Given the description of an element on the screen output the (x, y) to click on. 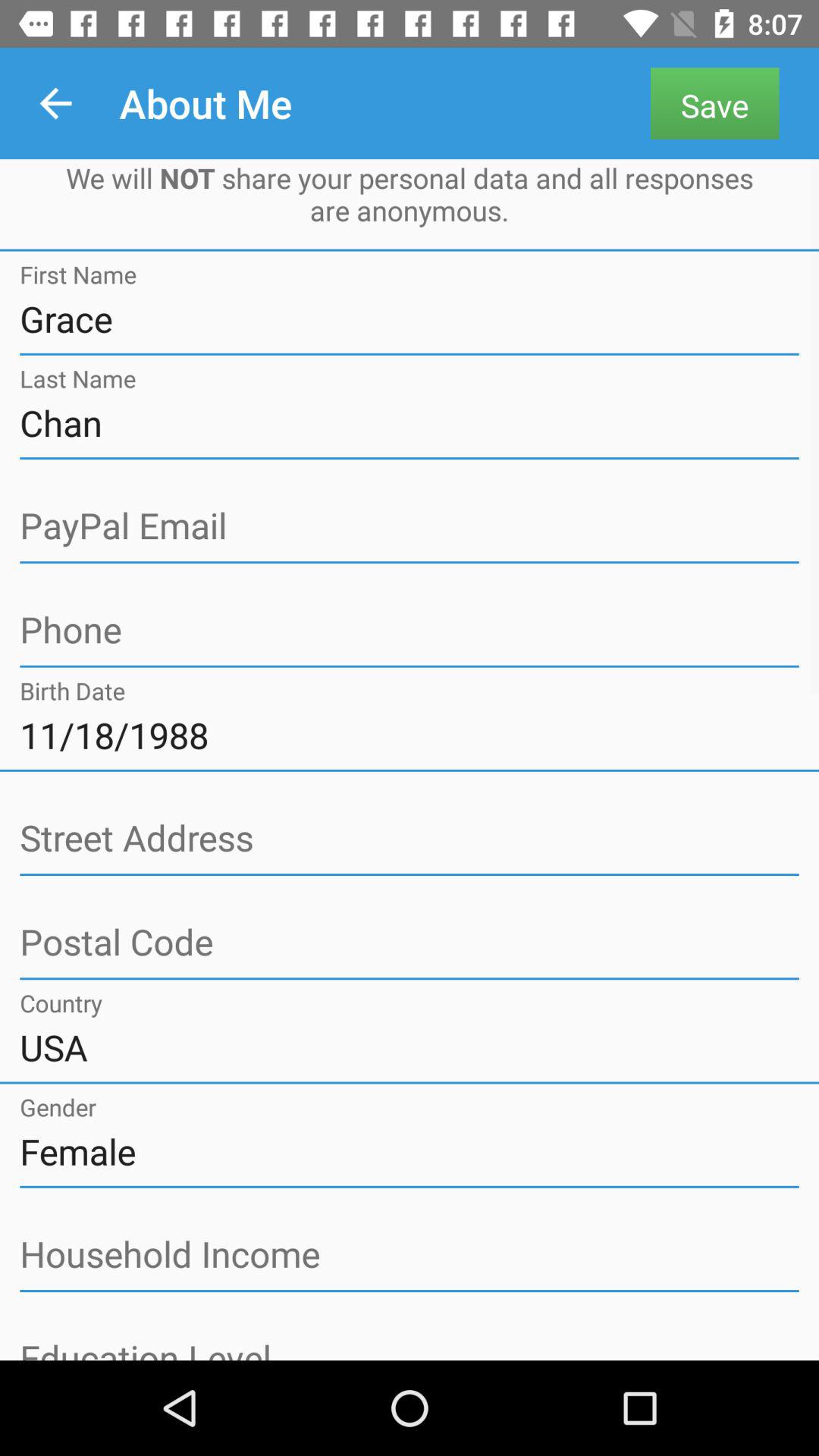
indicate the phone number (409, 630)
